Given the description of an element on the screen output the (x, y) to click on. 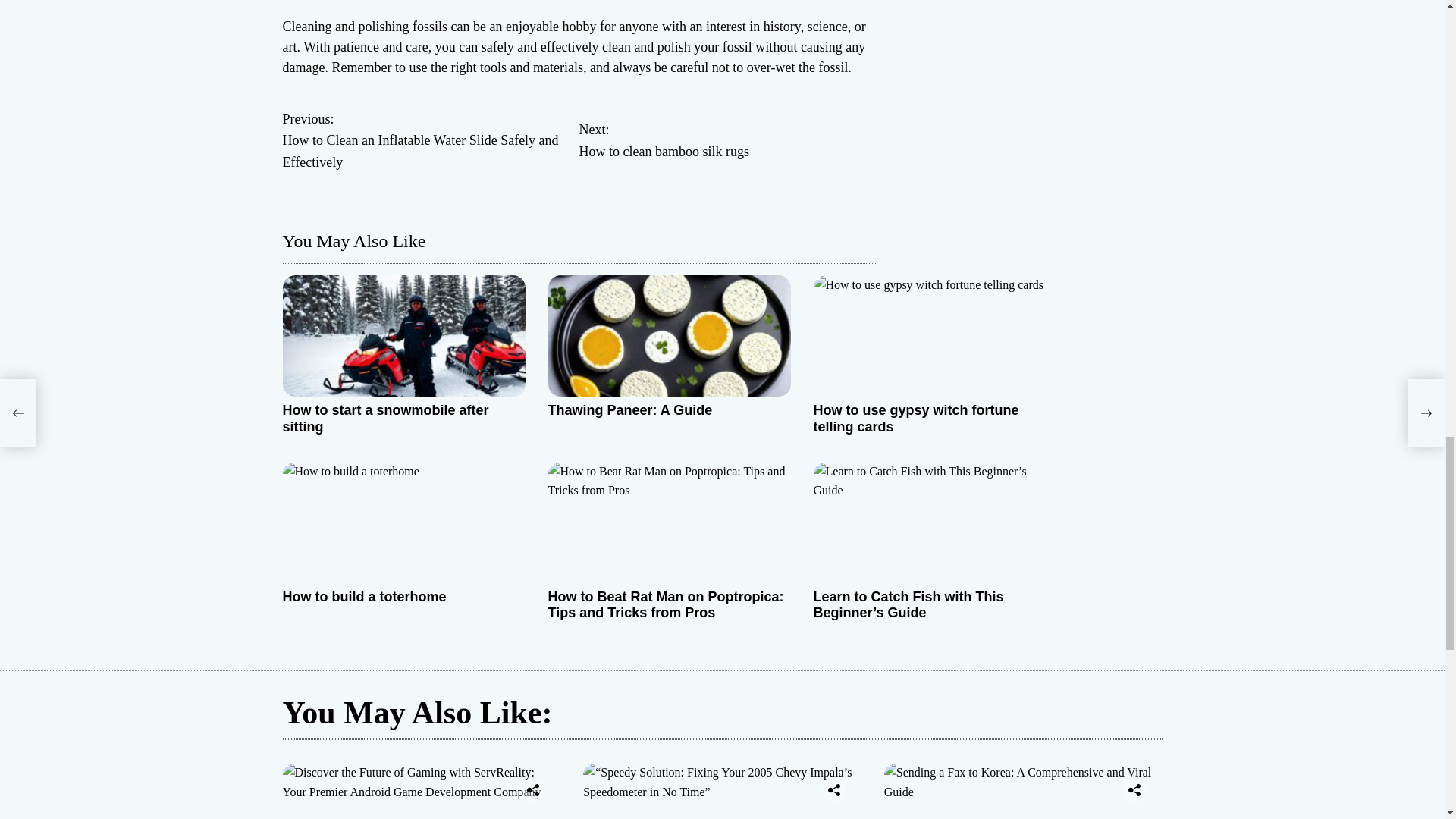
How to build a toterhome (727, 140)
How to use gypsy witch fortune telling cards (363, 596)
Thawing Paneer: A Guide (914, 418)
How to Beat Rat Man on Poptropica: Tips and Tricks from Pros (629, 409)
How to start a snowmobile after sitting (665, 604)
